Given the description of an element on the screen output the (x, y) to click on. 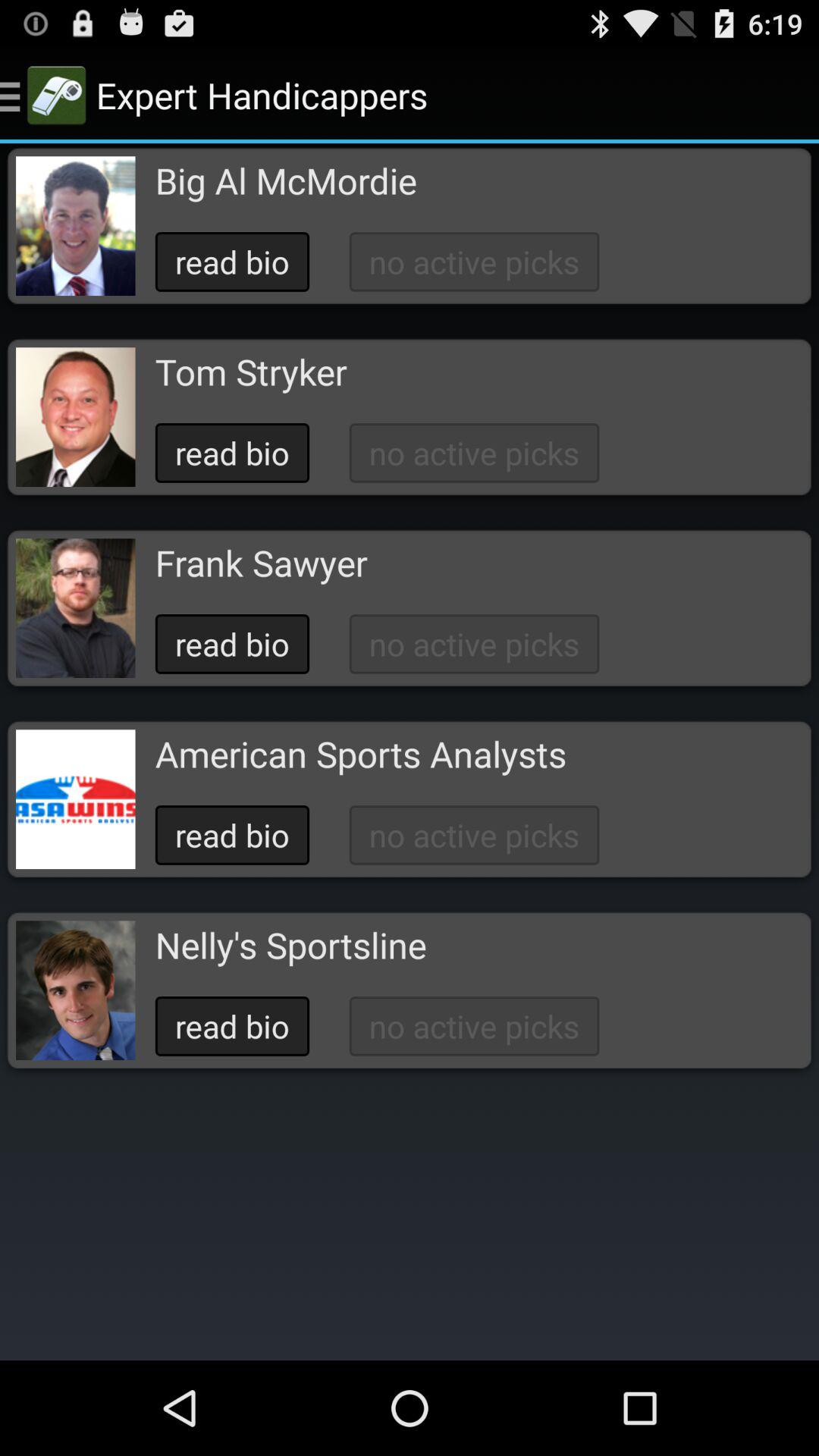
click the button above the read bio icon (261, 562)
